Given the description of an element on the screen output the (x, y) to click on. 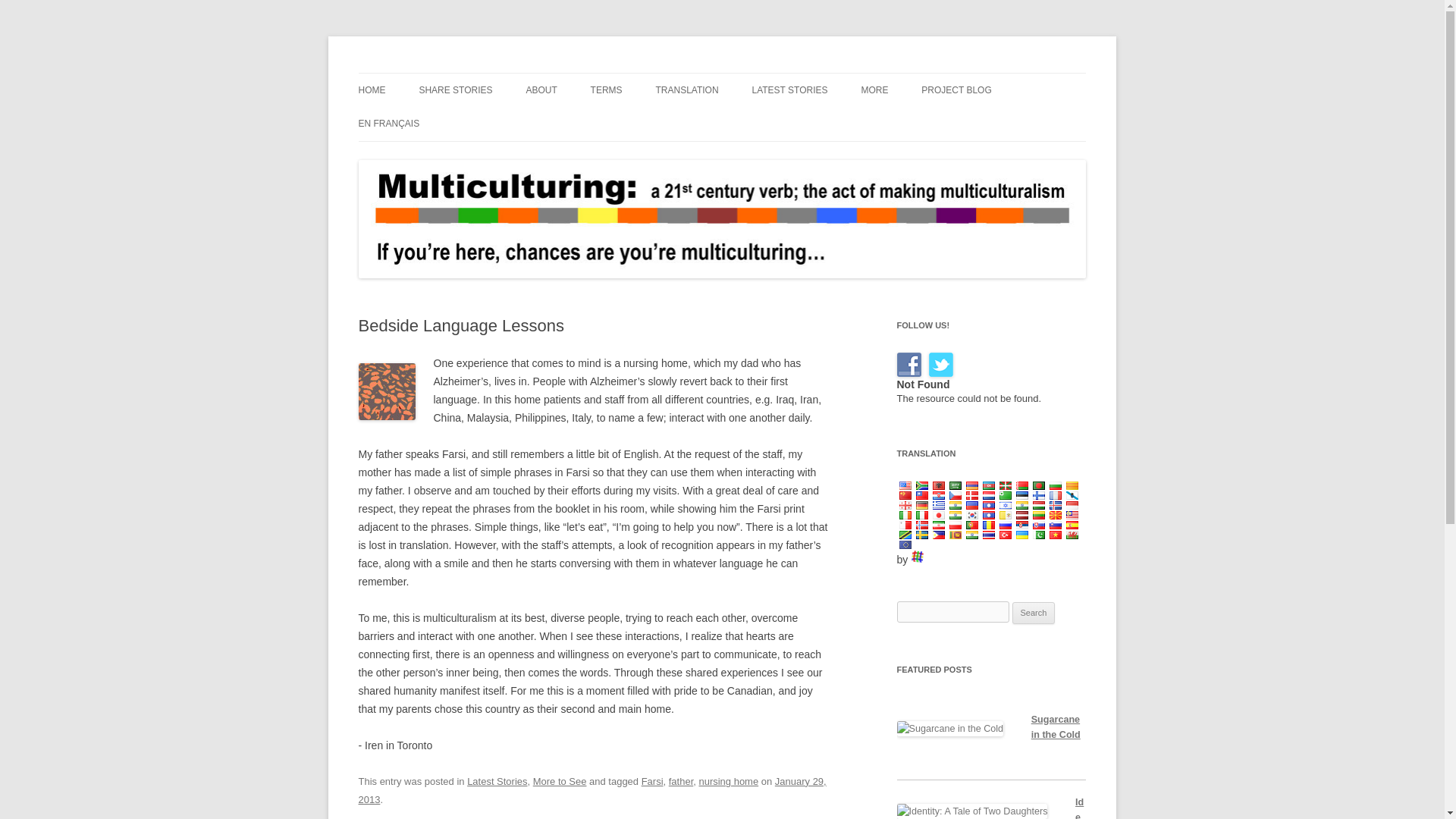
Follow Us on Facebook (908, 364)
Skip to content (757, 77)
PROJECT BLOG (956, 90)
nursing home (728, 781)
Skip to content (757, 77)
English (904, 485)
Search (1033, 612)
More to See (559, 781)
12:18 pm (591, 790)
MORE (874, 90)
SHARE STORIES (455, 90)
Afrikaans (921, 485)
Shqip (938, 485)
Making Multiculturalism (470, 72)
ABOUT (540, 90)
